Given the description of an element on the screen output the (x, y) to click on. 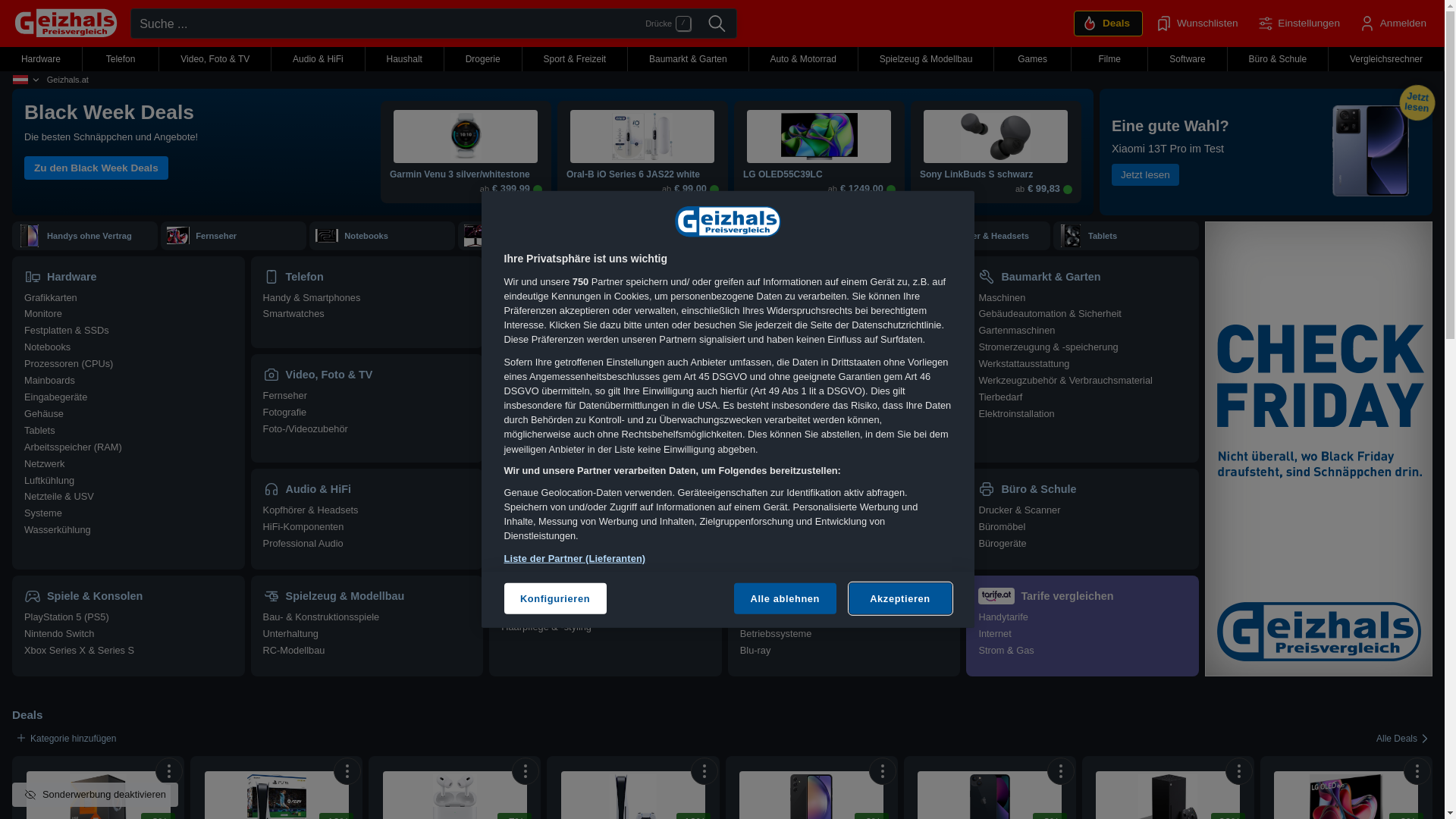
Anmelden Element type: text (1392, 23)
Blu-ray Element type: text (755, 649)
Festplatten & SSDs Element type: text (66, 329)
Haushalt Element type: text (605, 276)
Kochen & Backen Element type: text (539, 346)
Wunschlisten Element type: text (1195, 23)
Drogerie Element type: text (605, 488)
Fahrradkomponenten Element type: text (786, 379)
Mainboards Element type: text (49, 379)
Sport & Freizeit Element type: text (844, 276)
Drogerie Element type: text (482, 59)
Alle Deals Element type: text (1404, 738)
Handy & Smartphones Element type: text (311, 297)
Hardware Element type: text (40, 59)
Professional Audio Element type: text (303, 543)
Liste der Partner (Lieferanten) Element type: text (574, 557)
Netzteile & USV Element type: text (59, 496)
Tarife vergleichen Element type: text (1082, 595)
Sportschuhe Element type: text (767, 313)
Drucker & Scanner Element type: text (1019, 509)
Software Element type: text (785, 595)
Filme Element type: text (1109, 59)
Prozessoren (CPUs) Element type: text (68, 363)
Einstellungen Element type: text (1298, 23)
Motorrad Element type: text (759, 543)
Filme Element type: text (836, 595)
Garmin Venu 3 silver/whitestone Element type: text (465, 175)
Sportuhren Element type: text (763, 430)
Deals Element type: text (1107, 23)
Arbeitsspeicher (RAM) Element type: text (73, 446)
Grafikkarten Element type: text (50, 297)
Spielzeug & Modellbau Element type: text (367, 595)
Maschinen Element type: text (1001, 297)
Deals Element type: text (27, 714)
Monitore Element type: text (510, 235)
Hardware Element type: text (128, 276)
Tablets Element type: text (1102, 235)
Staubsaugen & Reinigen Element type: text (554, 297)
Gartenmaschinen Element type: text (1016, 329)
Netzwerk Element type: text (44, 463)
Tablets Element type: text (39, 430)
Monitore Element type: text (43, 313)
Mund- und Zahnpflege Element type: text (550, 559)
Games Element type: text (1032, 59)
Stromerzeugung & -speicherung Element type: text (1047, 346)
Funktionsbekleidung Element type: text (784, 329)
Video, Foto & TV Element type: text (214, 59)
Sport & Freizeit Element type: text (574, 59)
Software Element type: text (1187, 59)
Outdoor Element type: text (757, 297)
Notebooks Element type: text (47, 346)
Haarpflege & -styling Element type: text (546, 626)
Konfigurieren Element type: text (554, 598)
Telefon Element type: text (120, 59)
Alle ablehnen Element type: text (785, 598)
Oral-B iO Series 6 JAS22 white Element type: text (642, 175)
Internet Element type: text (994, 633)
Fernseher Element type: text (215, 235)
Elektroinstallation Element type: text (1016, 413)
Geizhals.at Element type: text (67, 79)
Notebooks Element type: text (366, 235)
Auto & Motorrad Element type: text (803, 59)
Waschen & Trocknen Element type: text (547, 363)
Zu den Black Week Deals Element type: text (96, 168)
Tierbedarf Element type: text (1000, 396)
Haushalt Element type: text (404, 59)
Smartwatches & Sportuhren Element type: text (693, 235)
Spiele & Konsolen Element type: text (128, 595)
Handytarife Element type: text (1002, 616)
3rd party ad content Element type: hover (1318, 448)
PlayStation 5 (PS5) Element type: text (66, 616)
Sony LinkBuds S schwarz Element type: text (995, 175)
Systeme Element type: text (43, 512)
LG OLED55C39LC Element type: text (819, 175)
Gas Element type: text (1024, 649)
Strom Element type: text (991, 649)
Akzeptieren Element type: text (900, 598)
Wintersport Element type: text (764, 396)
Xbox Series X & Series S Element type: text (79, 649)
Werkstattausstattung Element type: text (1023, 363)
Kaffee & Tee Element type: text (528, 379)
Suchen Element type: hover (716, 23)
Bau- & Konstruktionsspiele Element type: text (321, 616)
Baumarkt & Garten Element type: text (687, 59)
Baumarkt & Garten Element type: text (1082, 276)
E-Ladesysteme Element type: text (773, 526)
Haarstyler Element type: text (523, 609)
Rollsport Element type: text (759, 413)
RC-Modellbau Element type: text (294, 649)
Betriebssysteme Element type: text (776, 633)
PCIe Element type: text (799, 235)
Nintendo Switch Element type: text (59, 633)
Fernseher Element type: text (285, 395)
Video, Foto & TV Element type: text (367, 374)
Smartwatches Element type: text (293, 313)
Besteck & Geschirr Element type: text (542, 396)
Unterhaltung Element type: text (290, 633)
Handys ohne Vertrag Element type: text (89, 235)
Audio & HiFi Element type: text (317, 59)
HiFi-Komponenten Element type: text (303, 526)
Jetzt lesen Element type: text (1145, 174)
Fotografie Element type: text (285, 411)
Autoreifen & Felgen Element type: text (782, 509)
Office Element type: text (752, 616)
Auto & Motorrad Element type: text (844, 488)
Sonderwerbung deaktivieren Element type: text (95, 794)
Audio & HiFi Element type: text (367, 488)
Rasur & Haarentfernung Element type: text (553, 526)
Gesundheit Element type: text (525, 576)
Geizhals Element type: hover (65, 22)
Spielzeug & Modellbau Element type: text (926, 59)
Telefon Element type: text (367, 276)
